Given the description of an element on the screen output the (x, y) to click on. 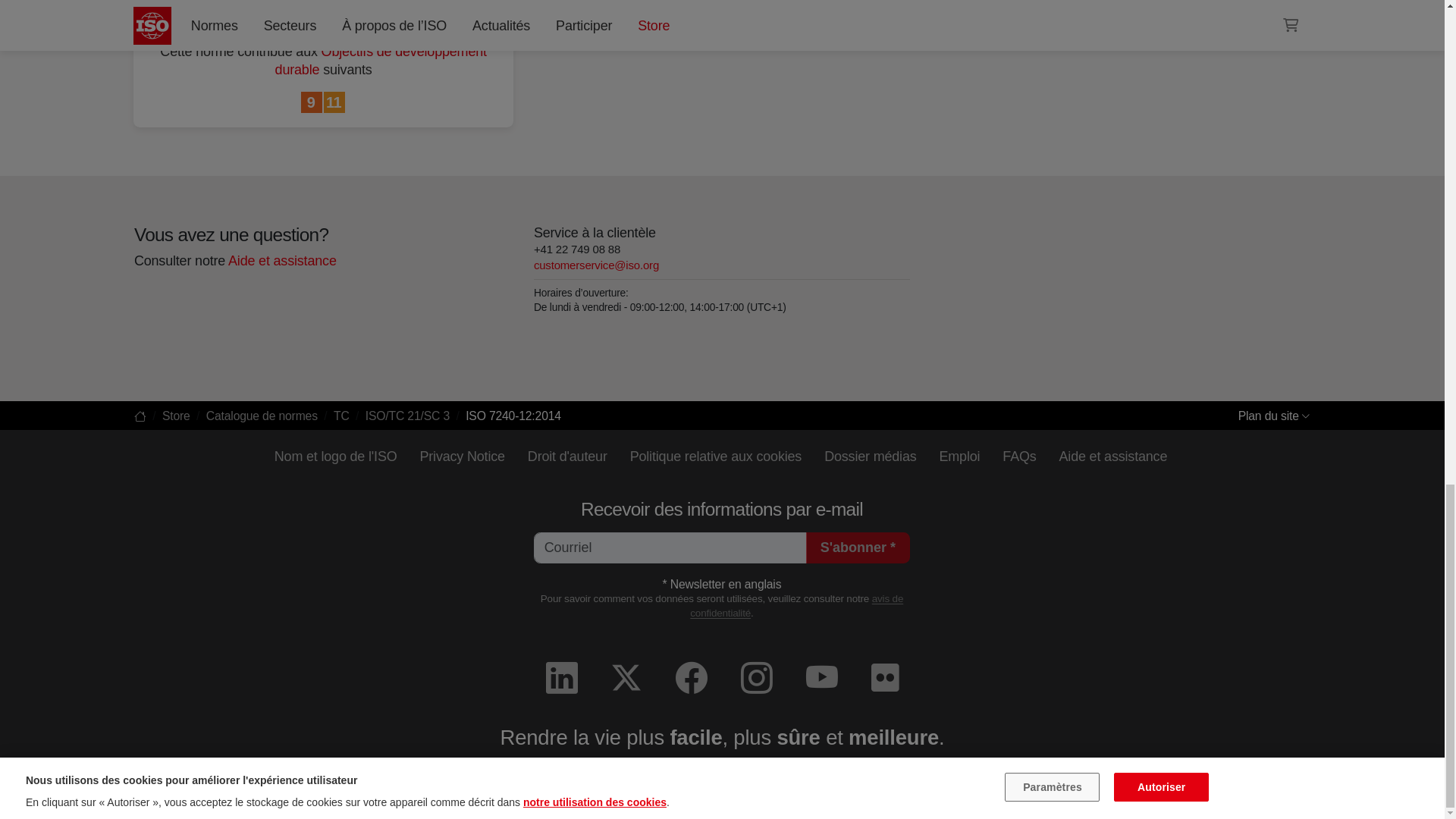
help-support (281, 260)
Industrie, innovation et infrastructure (312, 102)
